Given the description of an element on the screen output the (x, y) to click on. 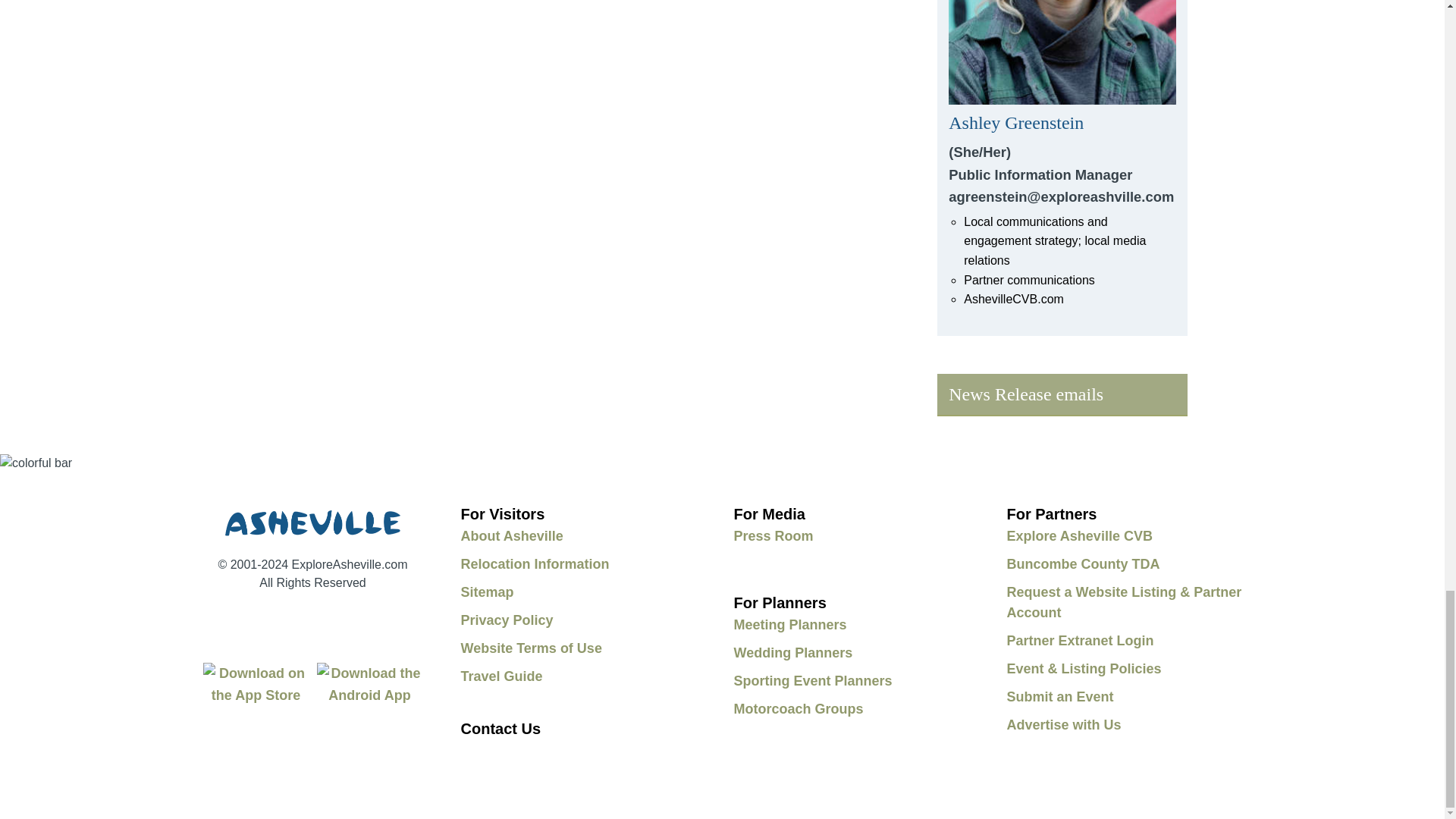
Facebook (238, 617)
YouTube (278, 617)
Click to email (1062, 154)
